Given the description of an element on the screen output the (x, y) to click on. 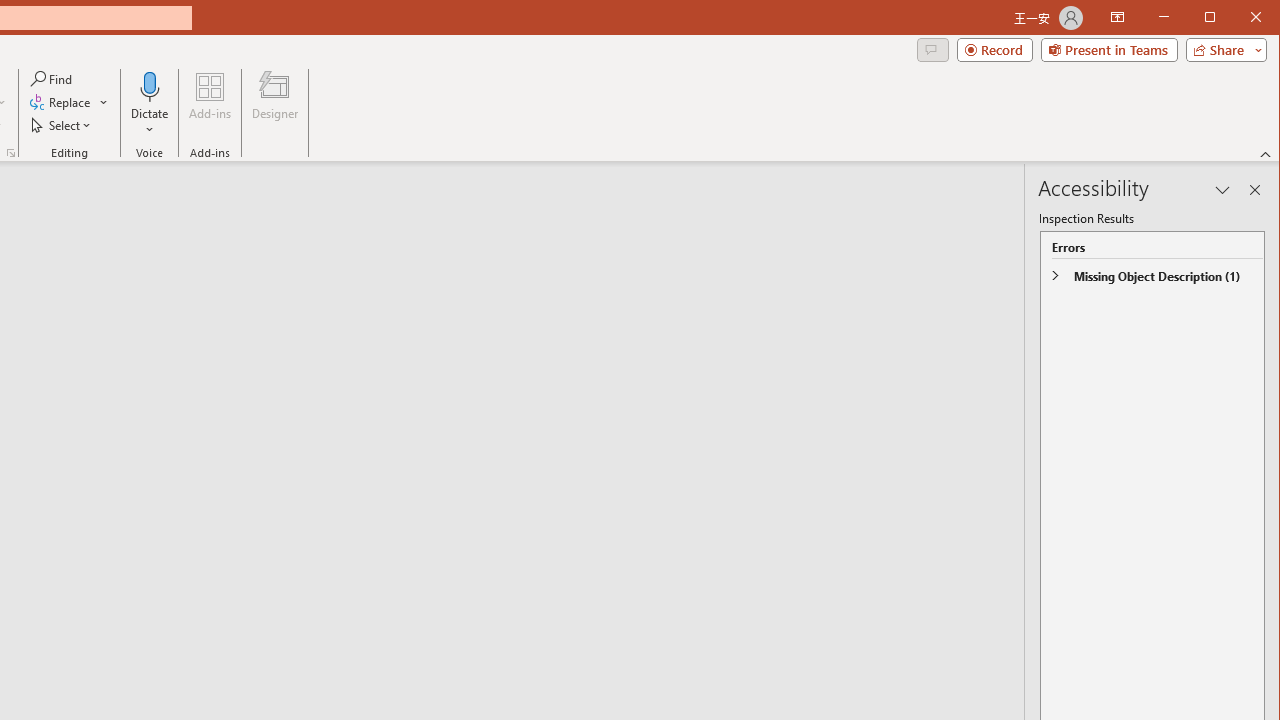
Select (62, 124)
Format Object... (10, 152)
Maximize (1238, 18)
